Given the description of an element on the screen output the (x, y) to click on. 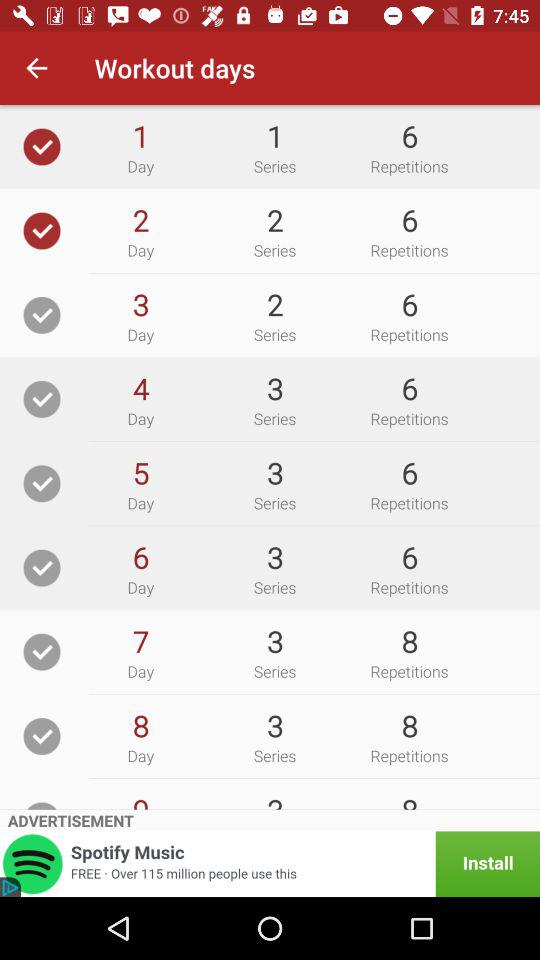
launch item above day icon (140, 472)
